Given the description of an element on the screen output the (x, y) to click on. 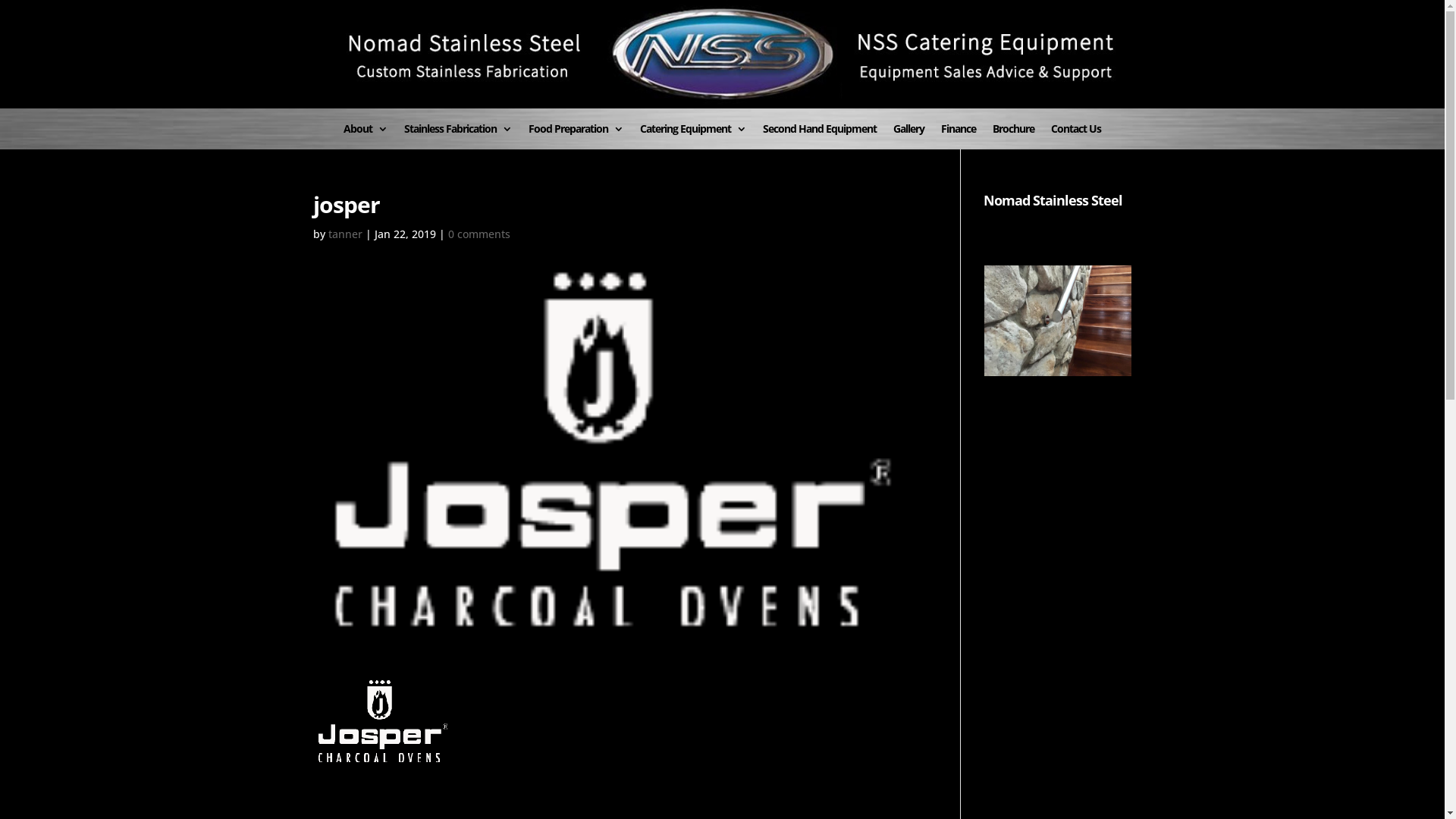
Stainless Fabrication Element type: text (457, 136)
Catering Equipment Element type: text (693, 136)
Brochure Element type: text (1013, 136)
Gallery Element type: text (908, 136)
header-no-contactdetails Element type: hover (721, 54)
Contact Us Element type: text (1076, 136)
Finance Element type: text (958, 136)
Second Hand Equipment Element type: text (819, 136)
tanner Element type: text (344, 233)
0 comments Element type: text (478, 233)
Food Preparation Element type: text (575, 136)
About Element type: text (365, 136)
